Given the description of an element on the screen output the (x, y) to click on. 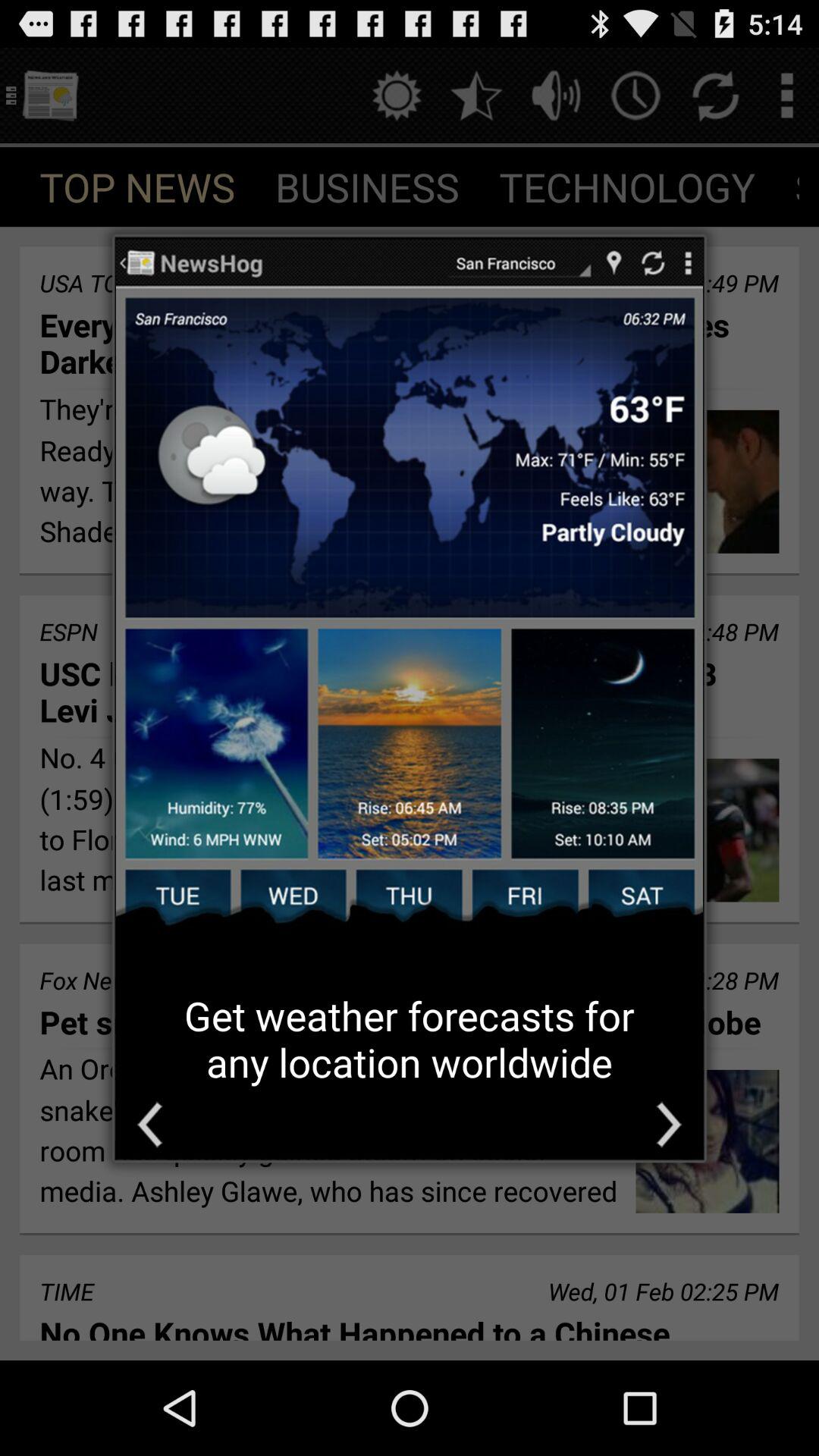
choose item at the bottom left corner (149, 1124)
